Given the description of an element on the screen output the (x, y) to click on. 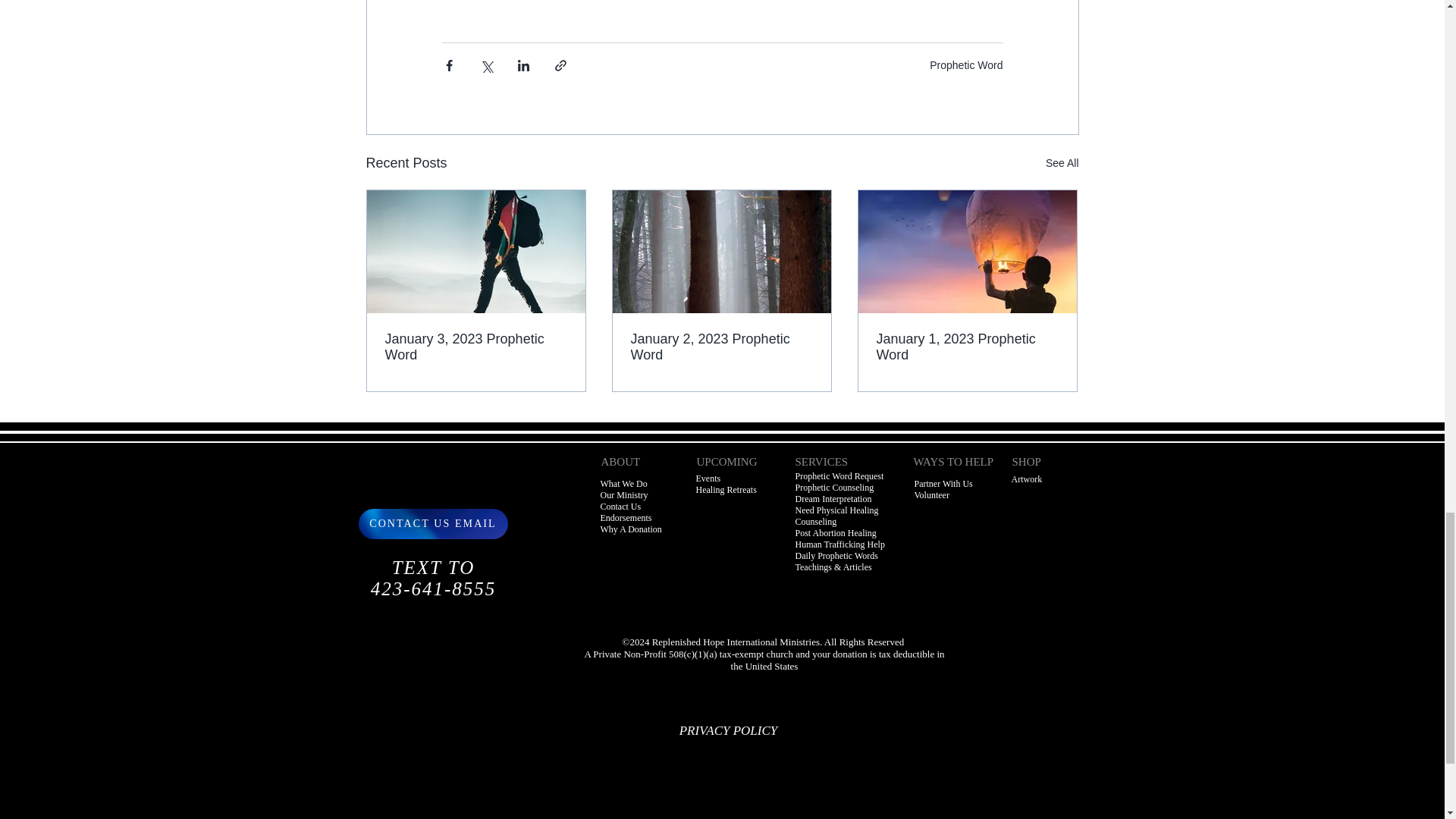
See All (1061, 163)
January 3, 2023 Prophetic Word (476, 347)
January 2, 2023 Prophetic Word (721, 347)
Prophetic Word (966, 64)
Our Ministry (623, 494)
What We Do (623, 483)
January 1, 2023 Prophetic Word (967, 347)
CONTACT US EMAIL (432, 523)
